Given the description of an element on the screen output the (x, y) to click on. 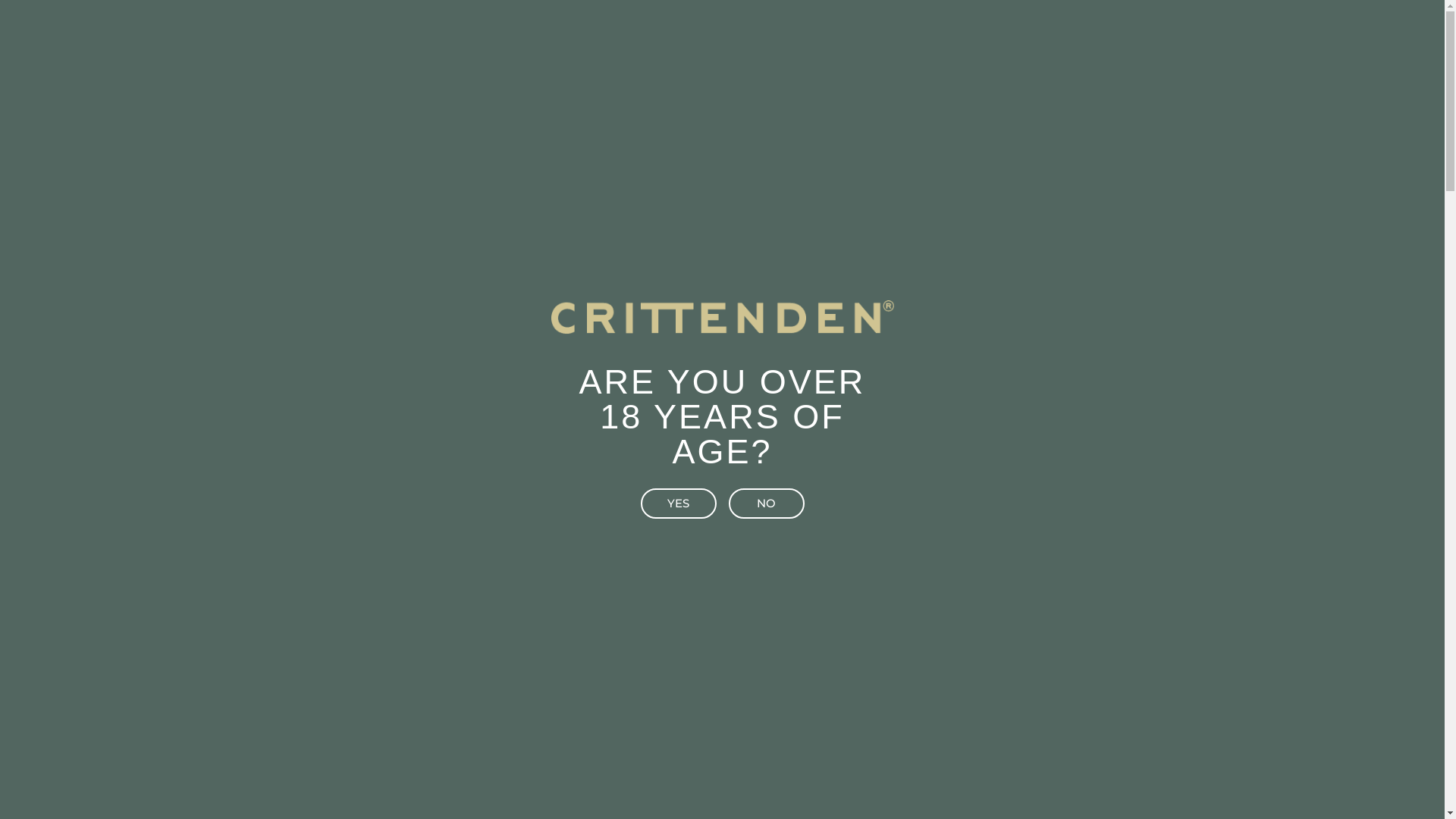
YES Element type: text (677, 503)
Log In Element type: text (955, 35)
Book Your Tasting Element type: text (1160, 37)
Visit Us Element type: text (722, 564)
Your Account Element type: text (891, 35)
Cart 0 items: $0.00 Element type: text (1039, 35)
NO Element type: text (765, 503)
